Given the description of an element on the screen output the (x, y) to click on. 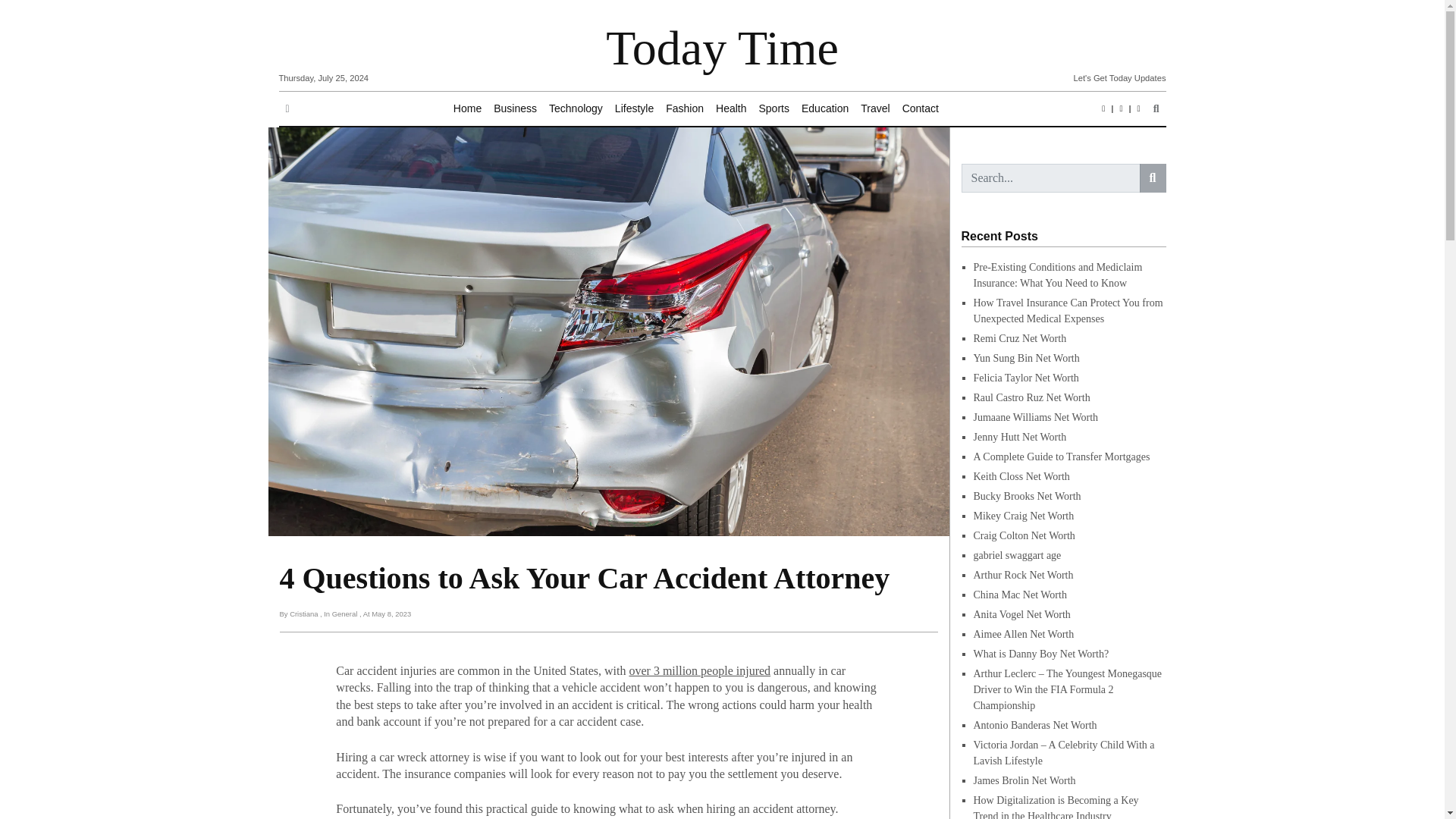
Business (515, 108)
over 3 million people injured (699, 670)
Business (515, 108)
linkedin (1120, 108)
Home (466, 108)
Travel (874, 108)
Health (731, 108)
Health (731, 108)
Lifestyle (633, 108)
Technology (575, 108)
Fashion (684, 108)
Sports (773, 108)
twitter (1139, 108)
Contact (920, 108)
Education (824, 108)
